Given the description of an element on the screen output the (x, y) to click on. 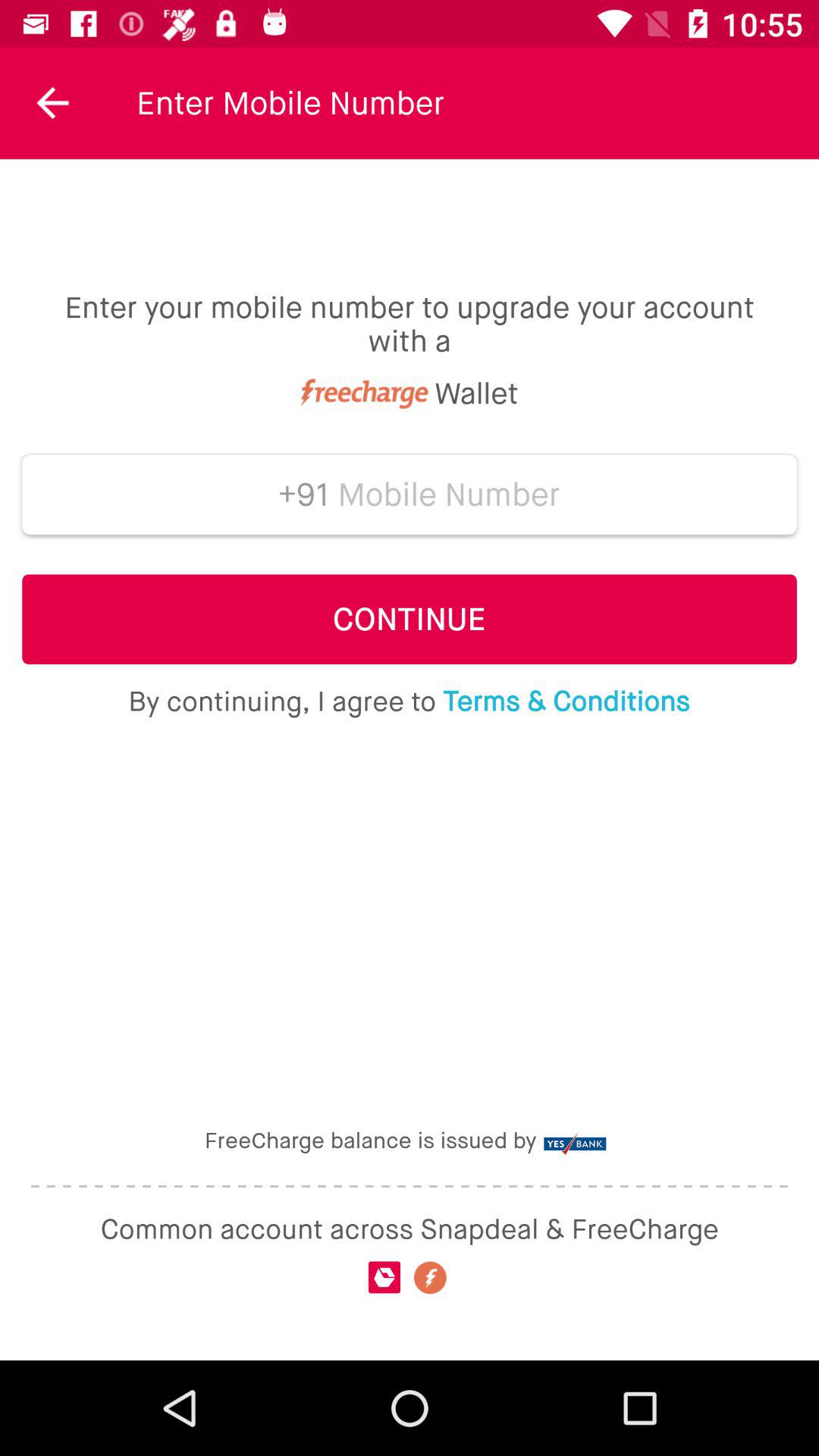
turn on the by continuing i (408, 701)
